Given the description of an element on the screen output the (x, y) to click on. 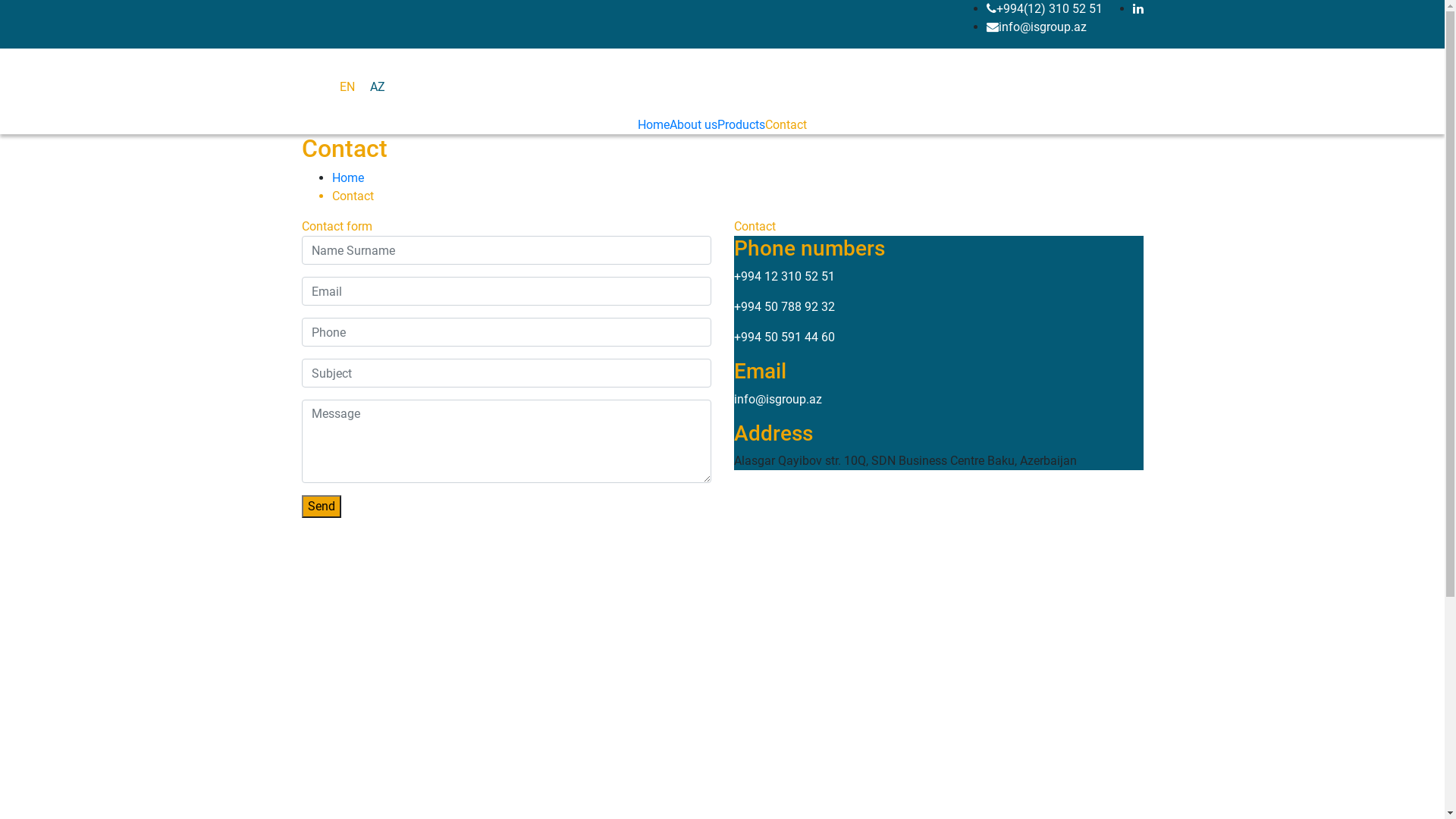
Home Element type: text (348, 177)
Products Element type: text (741, 124)
Contact Element type: text (785, 124)
EN Element type: text (347, 86)
Home Element type: text (653, 124)
info@isgroup.az Element type: text (778, 399)
+994 50 591 44 60 Element type: text (784, 336)
AZ Element type: text (377, 86)
+994(12) 310 52 51 Element type: text (1043, 8)
+994 12 310 52 51 Element type: text (784, 276)
About us Element type: text (693, 124)
Send Element type: text (321, 506)
info@isgroup.az Element type: text (1035, 26)
+994 50 788 92 32 Element type: text (784, 306)
